Given the description of an element on the screen output the (x, y) to click on. 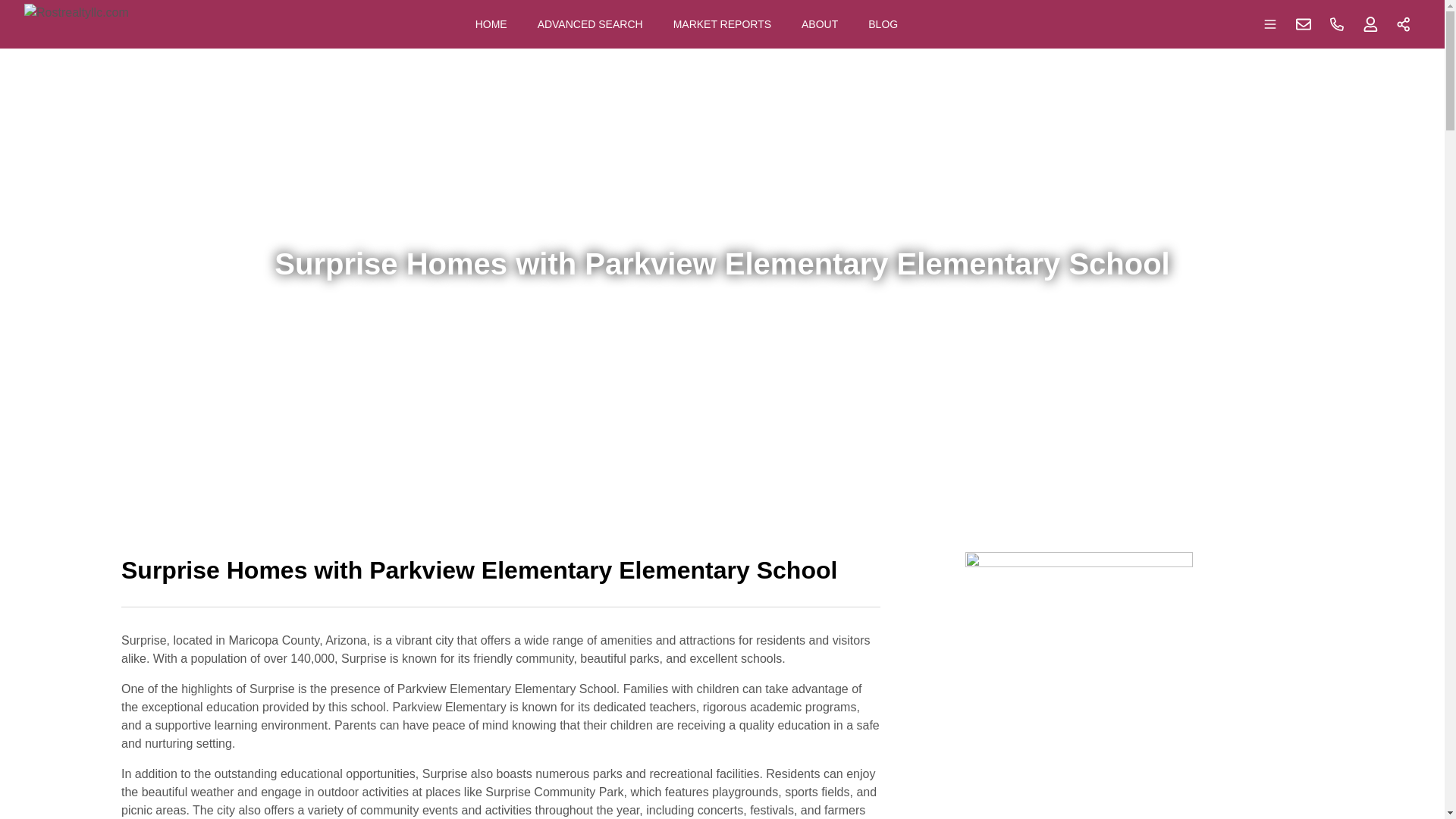
BLOG (883, 24)
ADVANCED SEARCH (590, 24)
MARKET REPORTS (721, 24)
Sign up or Sign in (1370, 23)
Rostrealtyllc.com (76, 24)
Phone number (1337, 23)
HOME (490, 24)
ABOUT (819, 24)
Open main menu (1270, 23)
Surprise Homes with Parkview Elementary Elementary School (500, 579)
